Given the description of an element on the screen output the (x, y) to click on. 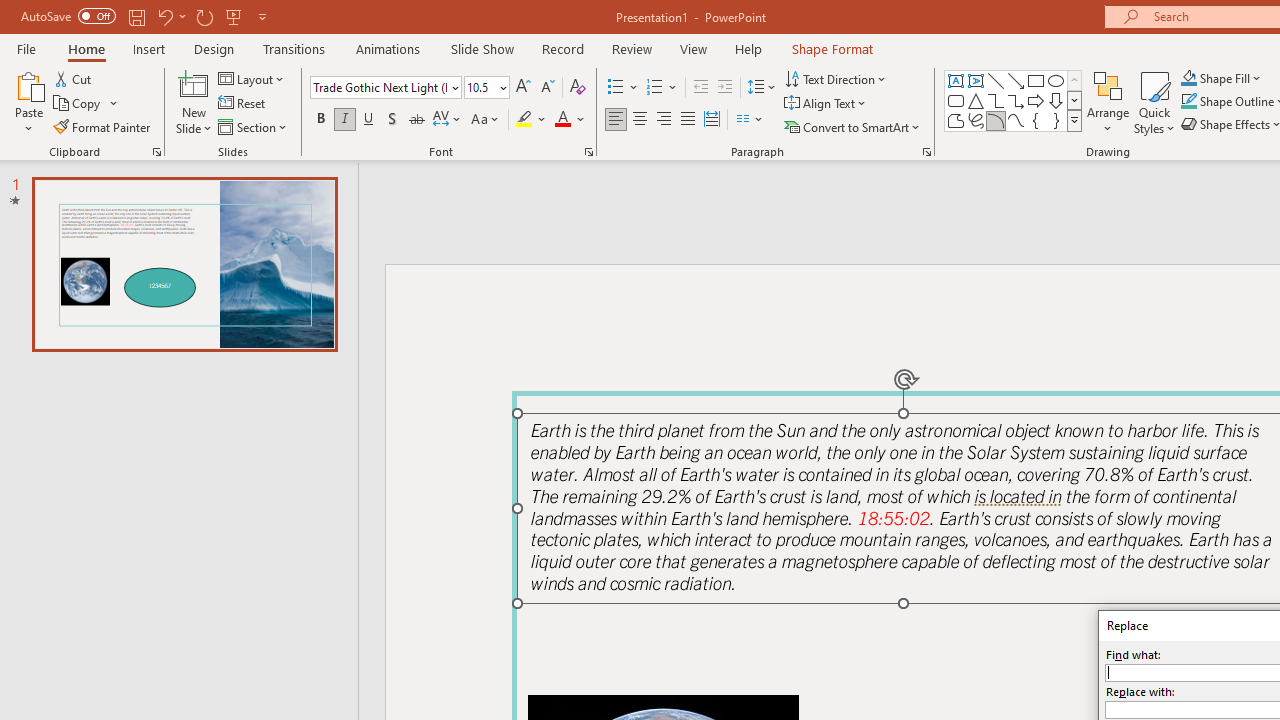
Freeform: Shape (955, 120)
Change Case (486, 119)
Paragraph... (926, 151)
Decrease Indent (700, 87)
Format Painter (103, 126)
Align Text (826, 103)
Shape Fill (1221, 78)
